Given the description of an element on the screen output the (x, y) to click on. 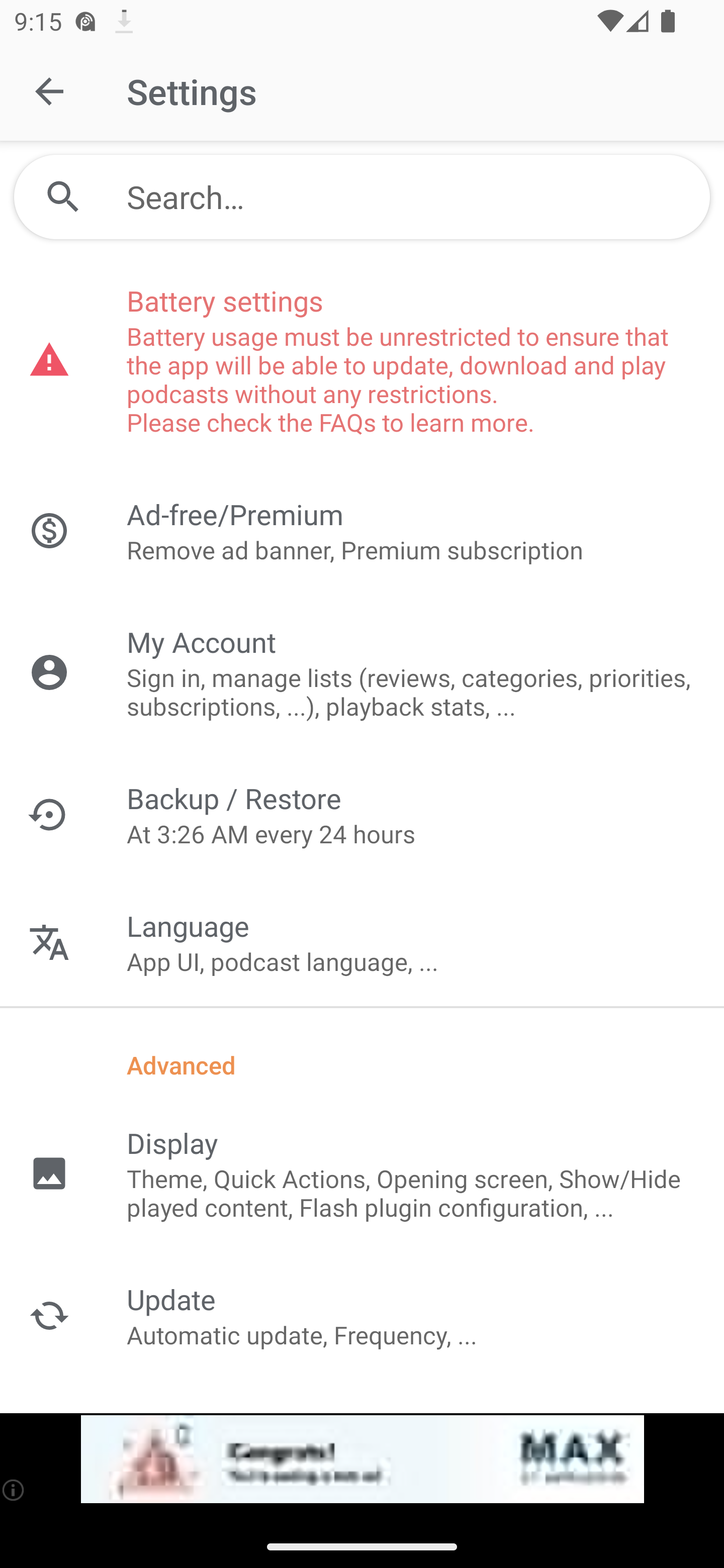
Navigate up (49, 91)
Search… (361, 197)
Search… (410, 196)
Backup / Restore At 3:26 AM every 24 hours (362, 814)
Language App UI, podcast language, ... (362, 942)
Update Automatic update, Frequency, ... (362, 1315)
app-monetization (362, 1459)
(i) (14, 1489)
